Given the description of an element on the screen output the (x, y) to click on. 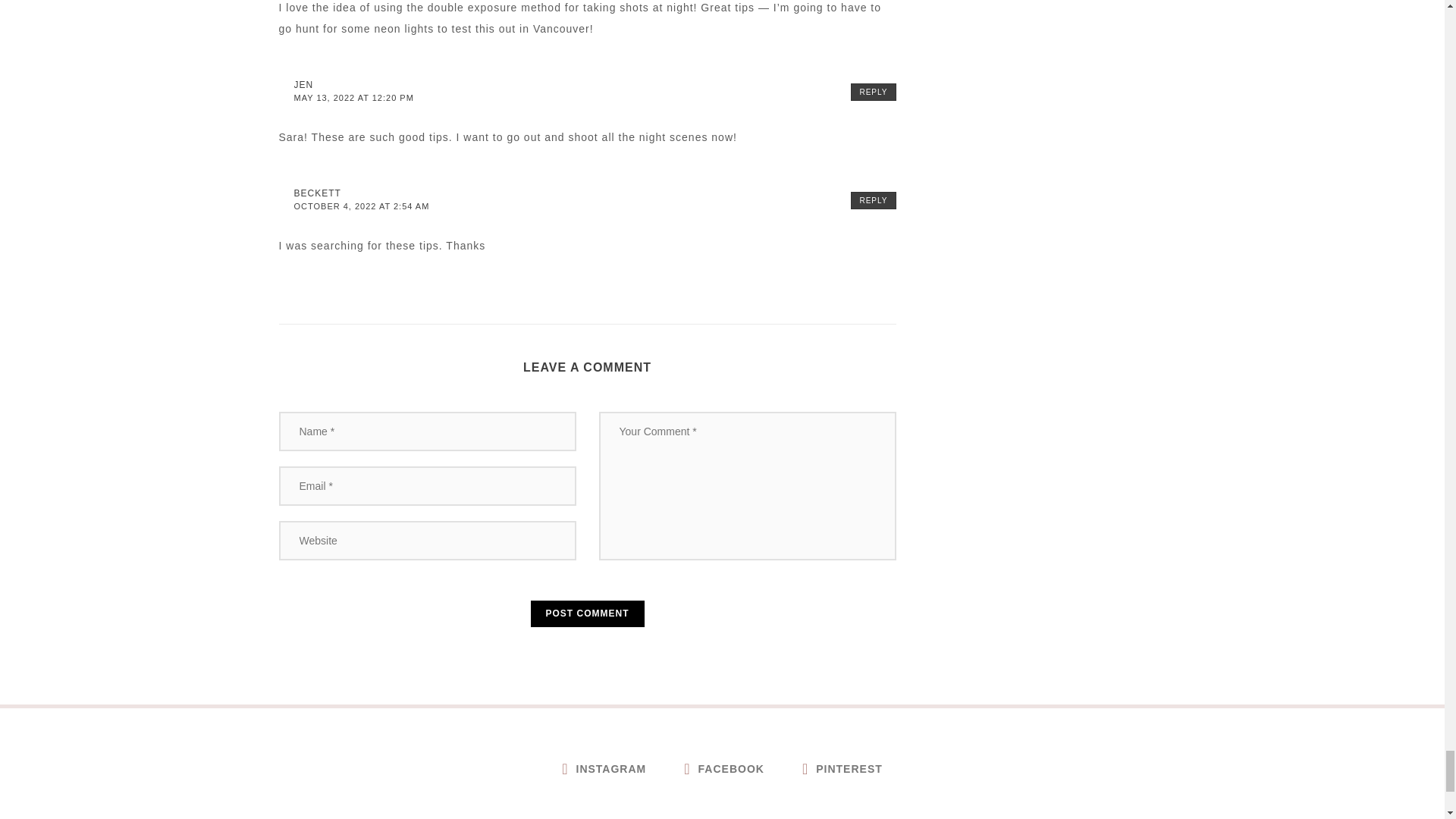
Post Comment (588, 613)
